Given the description of an element on the screen output the (x, y) to click on. 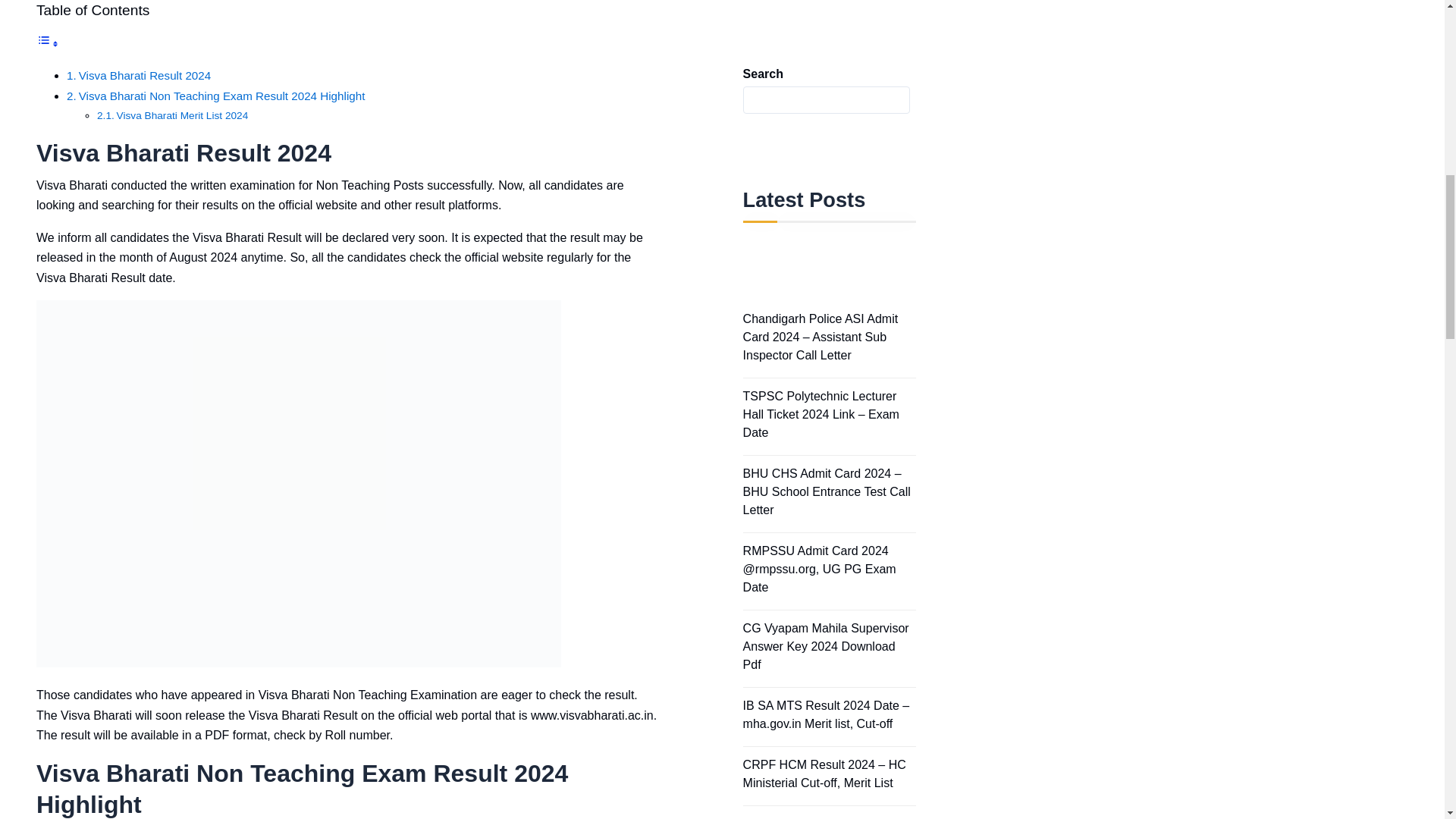
Visva Bharati Result 2024 (138, 75)
Visva Bharati Non Teaching Exam Result 2024 Highlight (215, 96)
Visva Bharati Merit List 2024 (172, 116)
Visva Bharati Merit List 2024 (172, 116)
Visva Bharati Non Teaching Exam Result 2024 Highlight (215, 96)
Visva Bharati Result 2024 (138, 75)
